Given the description of an element on the screen output the (x, y) to click on. 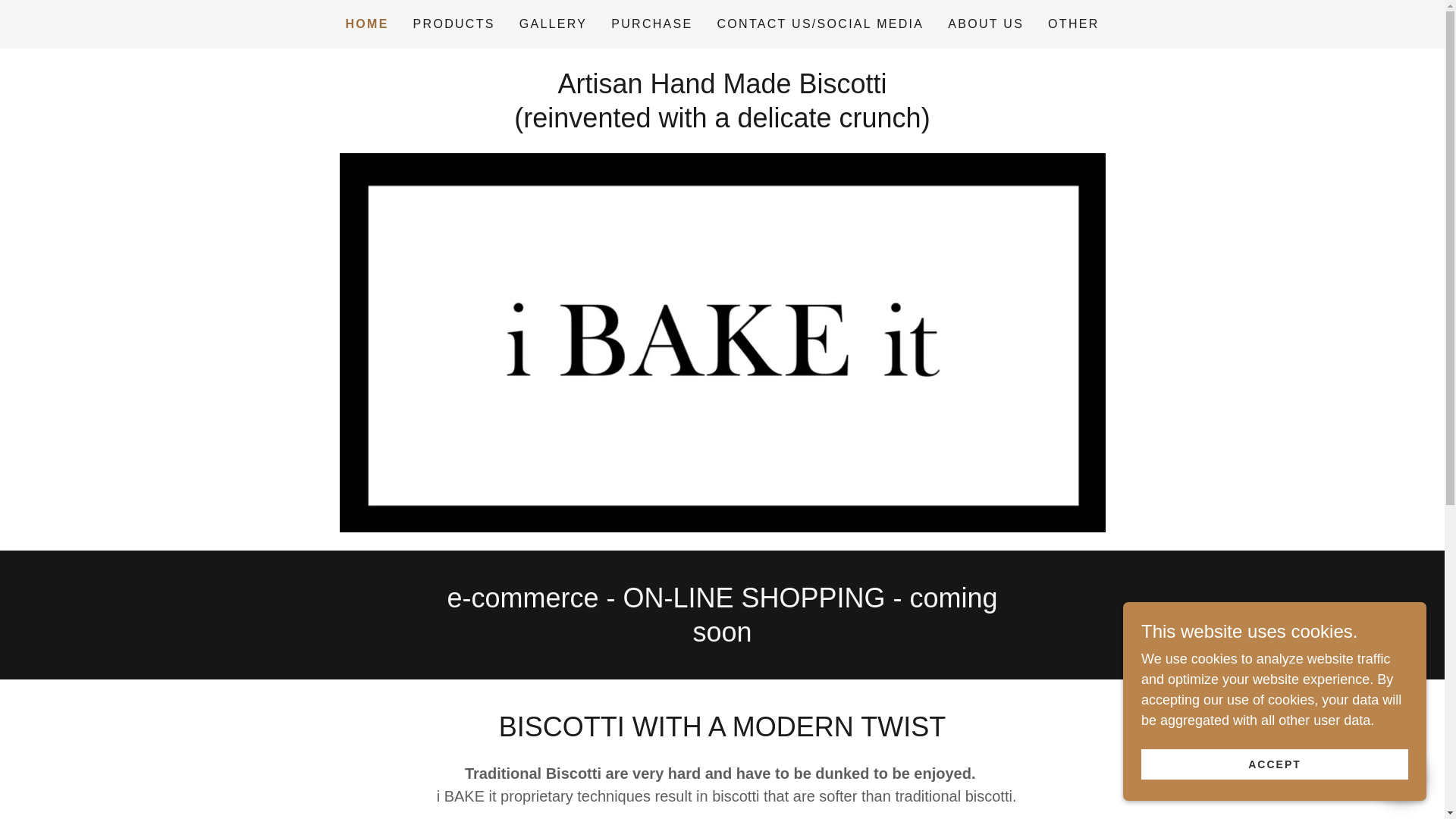
PURCHASE (652, 23)
GALLERY (553, 23)
ACCEPT (1274, 764)
OTHER (1073, 23)
PRODUCTS (454, 23)
ABOUT US (985, 23)
HOME (366, 24)
